Given the description of an element on the screen output the (x, y) to click on. 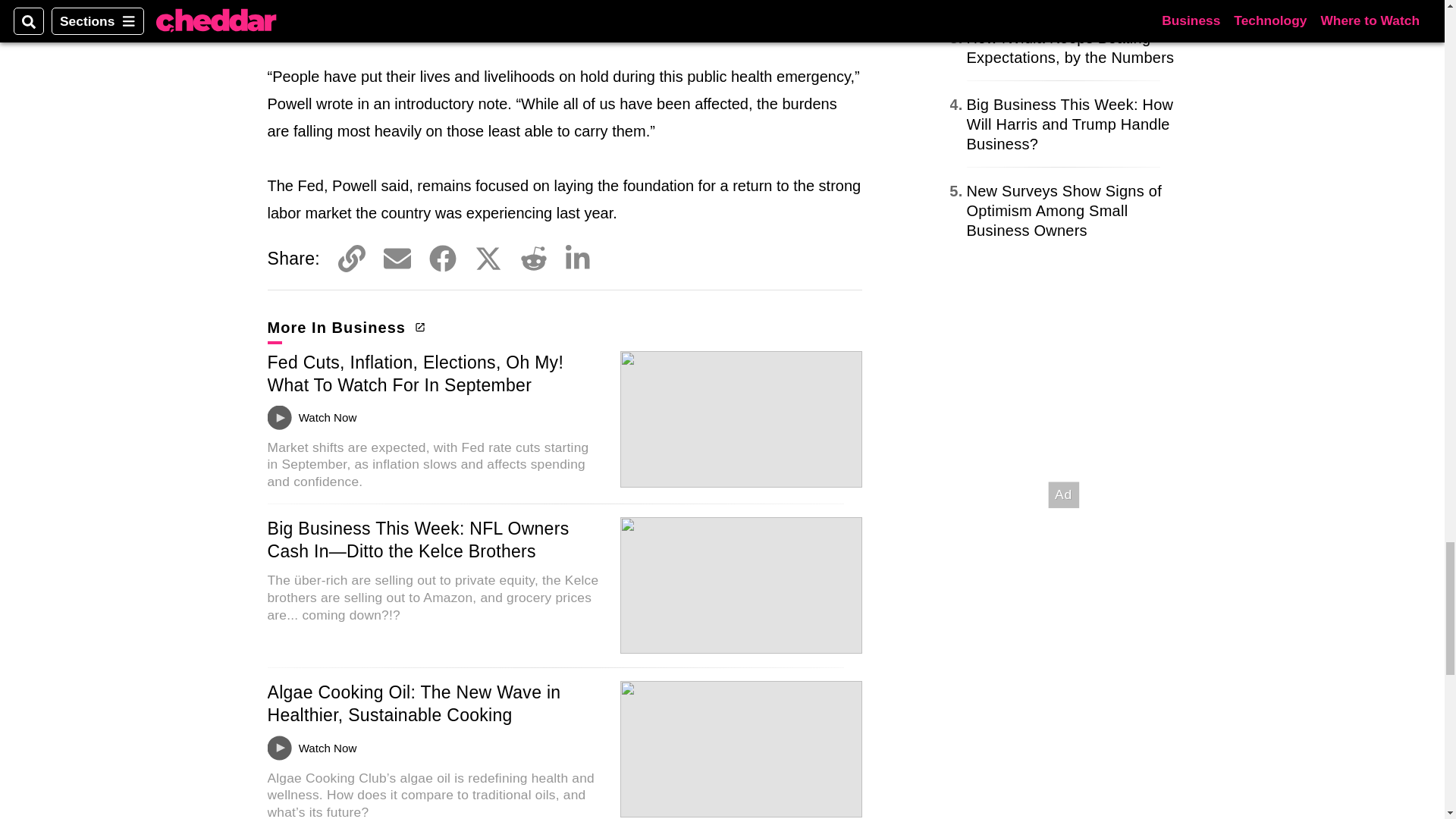
More In Business (344, 327)
